Given the description of an element on the screen output the (x, y) to click on. 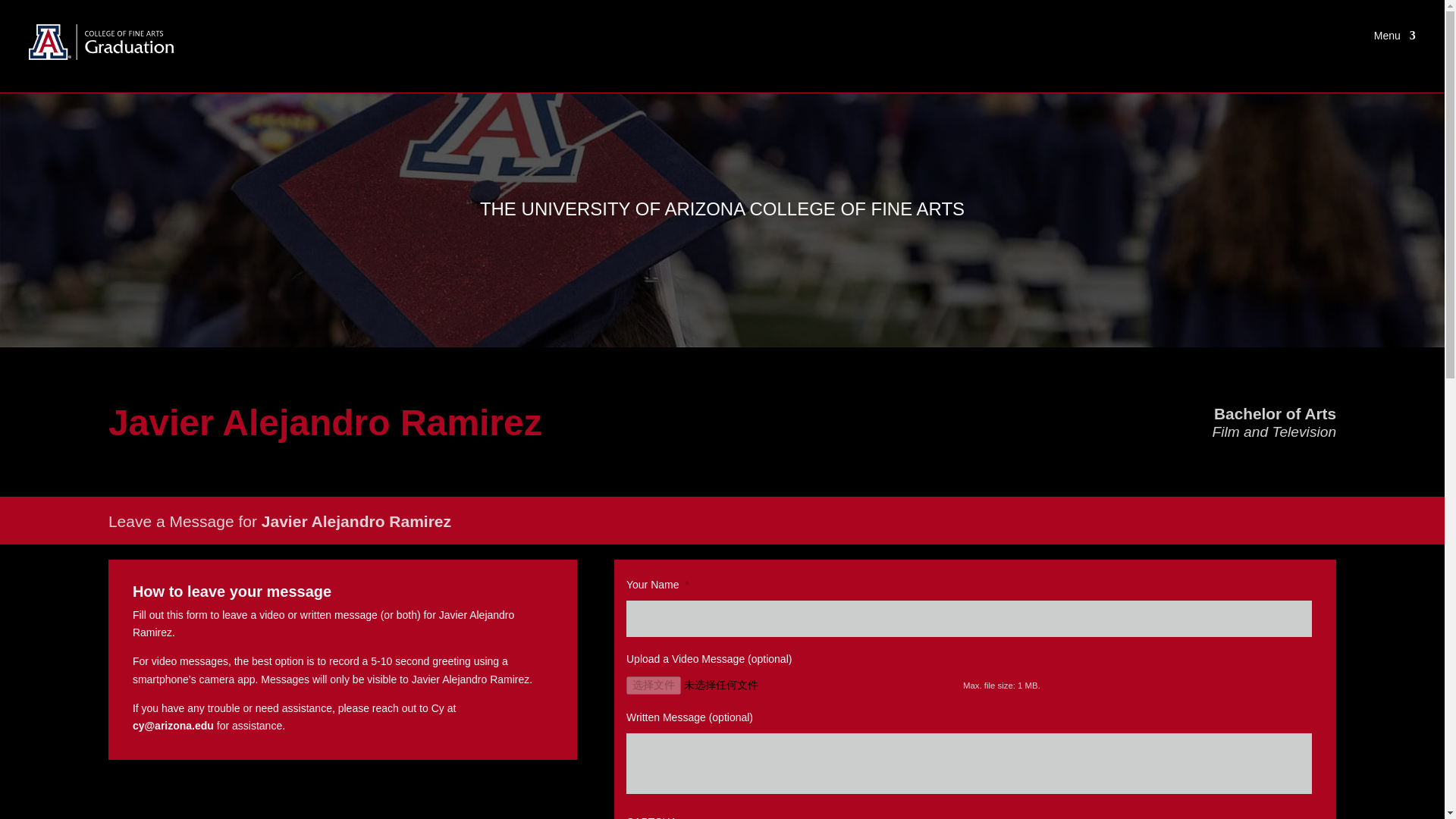
CFA-Graduation-Lockup (104, 41)
Menu (1394, 38)
